Given the description of an element on the screen output the (x, y) to click on. 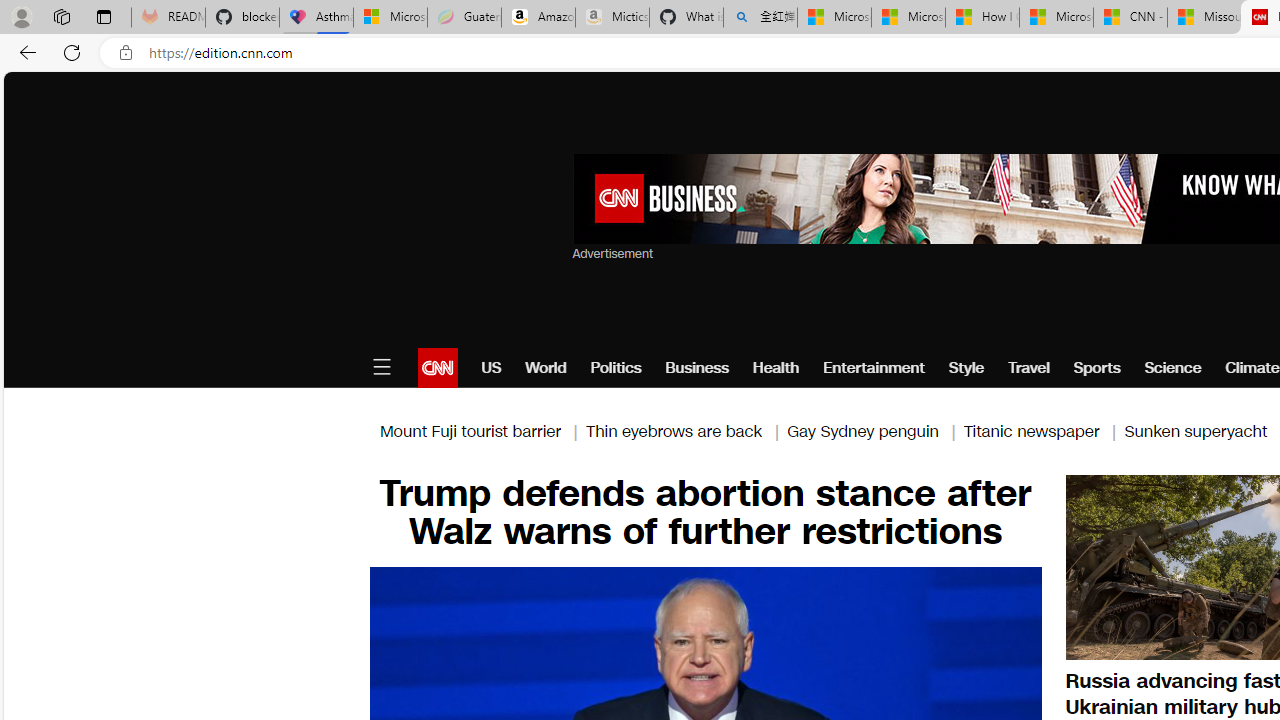
Politics (616, 367)
Style (966, 367)
Climate (1252, 367)
Business (697, 367)
Gay Sydney penguin | (875, 430)
Science (1172, 367)
Open Menu Icon (381, 367)
World (545, 367)
